Given the description of an element on the screen output the (x, y) to click on. 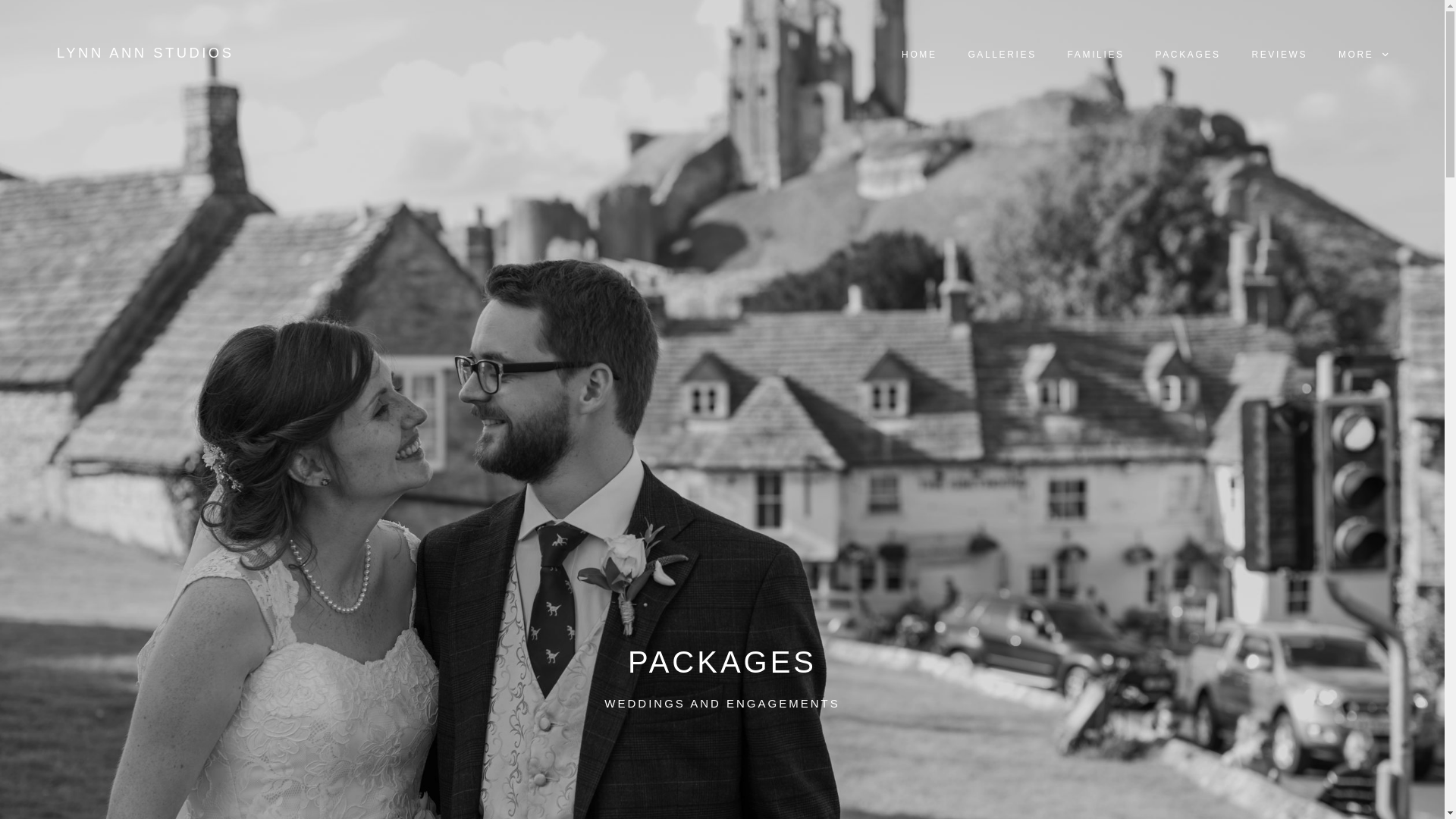
MORE (1362, 54)
PACKAGES (1186, 54)
GALLERIES (1002, 54)
LYNN ANN STUDIOS (144, 53)
FAMILIES (1095, 54)
REVIEWS (1279, 54)
HOME (919, 54)
